Given the description of an element on the screen output the (x, y) to click on. 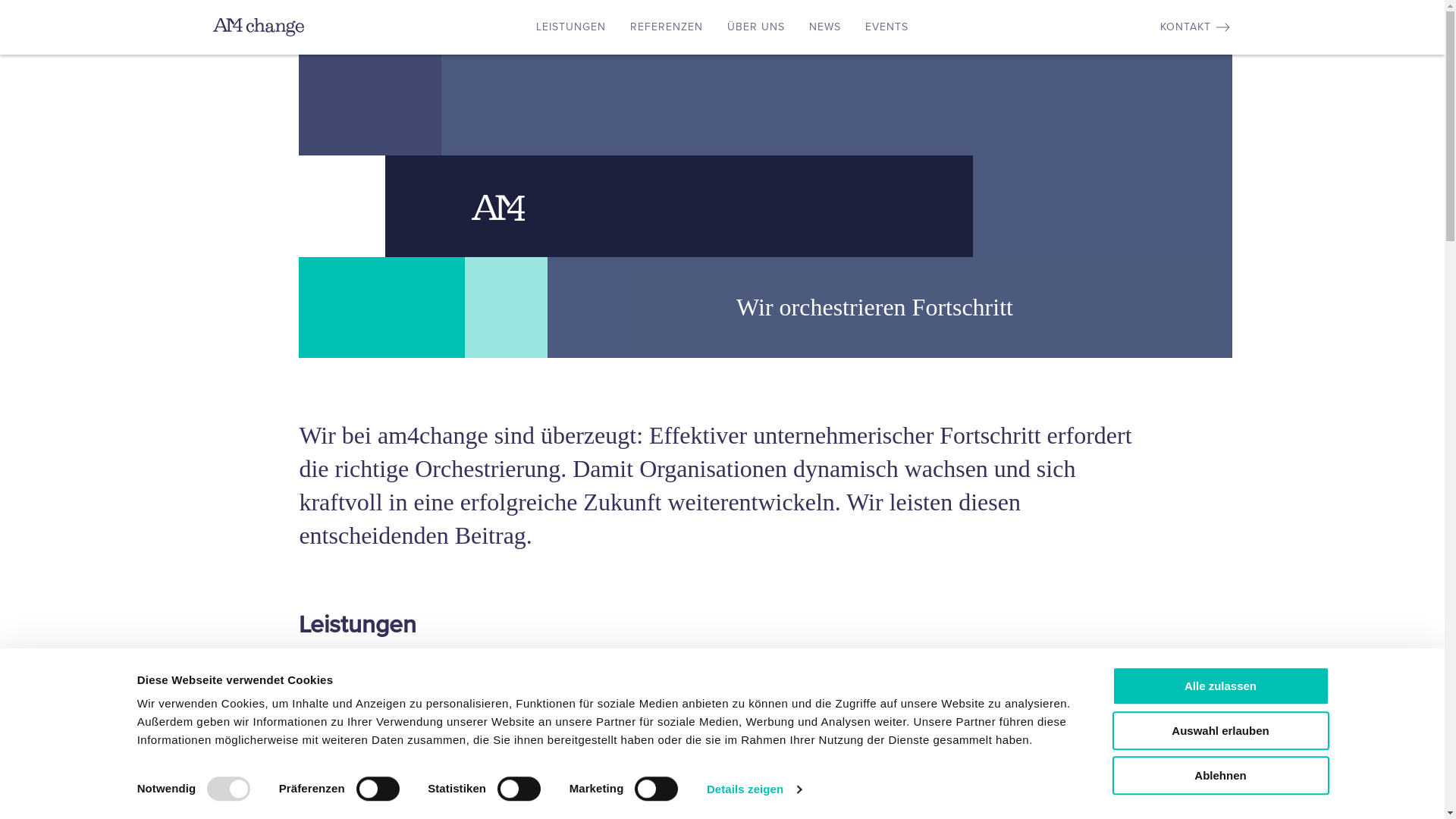
PURPOSE & FOCUS Element type: text (415, 686)
Ablehnen Element type: text (1219, 775)
NEWS Element type: text (824, 26)
ECONOMICS & IMPACT Element type: text (1115, 686)
Auswahl erlauben Element type: text (1219, 730)
TRANSFORMATION & EXECUTION Element type: text (881, 686)
Details zeigen Element type: text (753, 789)
LEISTUNGEN Element type: text (570, 26)
KONTAKT Element type: text (1196, 27)
LEADERSHIP & COLLABORATION Element type: text (648, 686)
Alle zulassen Element type: text (1219, 685)
EVENTS Element type: text (886, 26)
REFERENZEN Element type: text (666, 26)
